Given the description of an element on the screen output the (x, y) to click on. 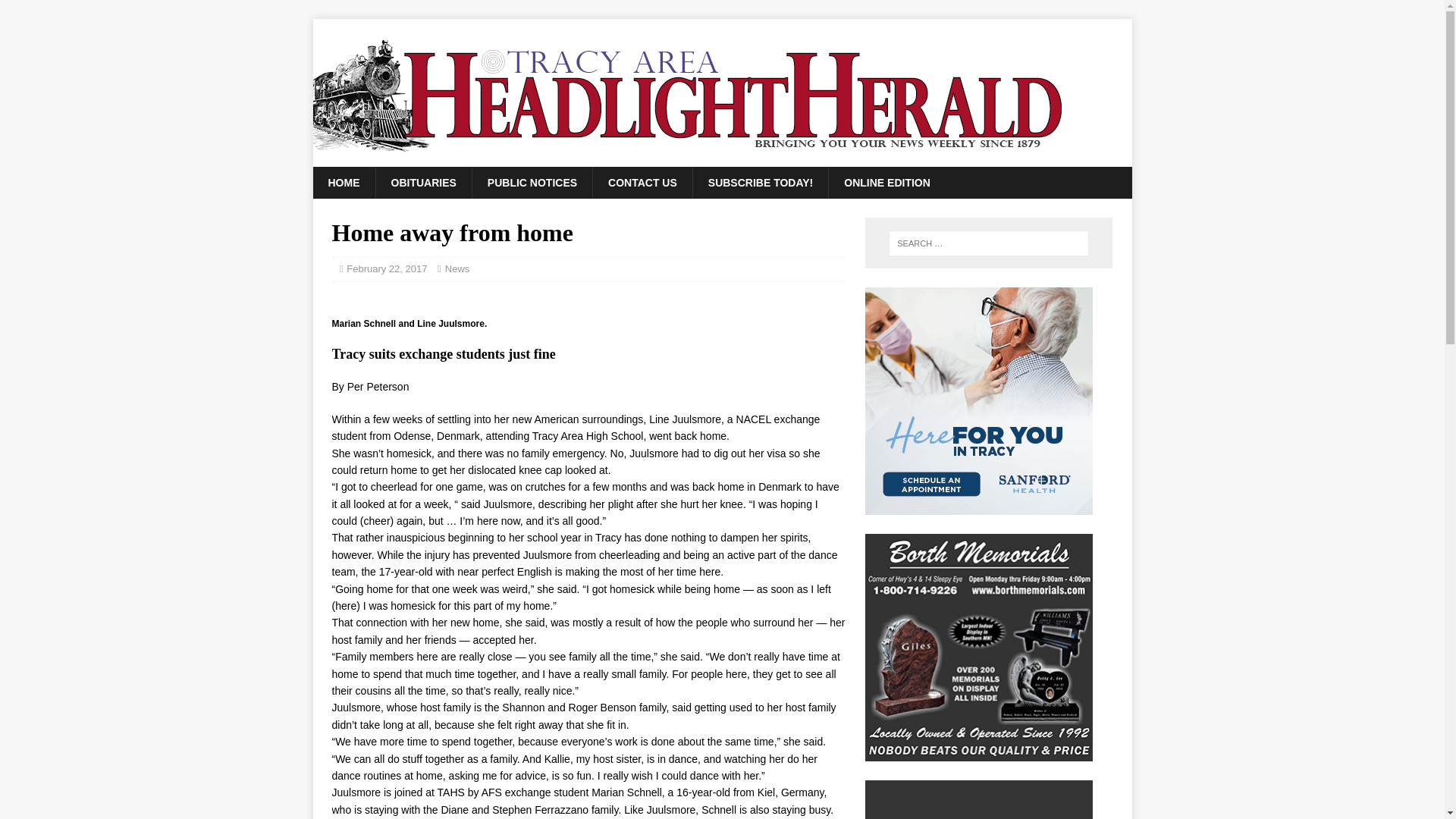
ONLINE EDITION (886, 183)
SUBSCRIBE TODAY! (760, 183)
Tracy Area Headlight Herald (690, 158)
CONTACT US (642, 183)
Search (56, 11)
News (457, 268)
February 22, 2017 (386, 268)
HOME (343, 183)
PUBLIC NOTICES (531, 183)
OBITUARIES (422, 183)
